Given the description of an element on the screen output the (x, y) to click on. 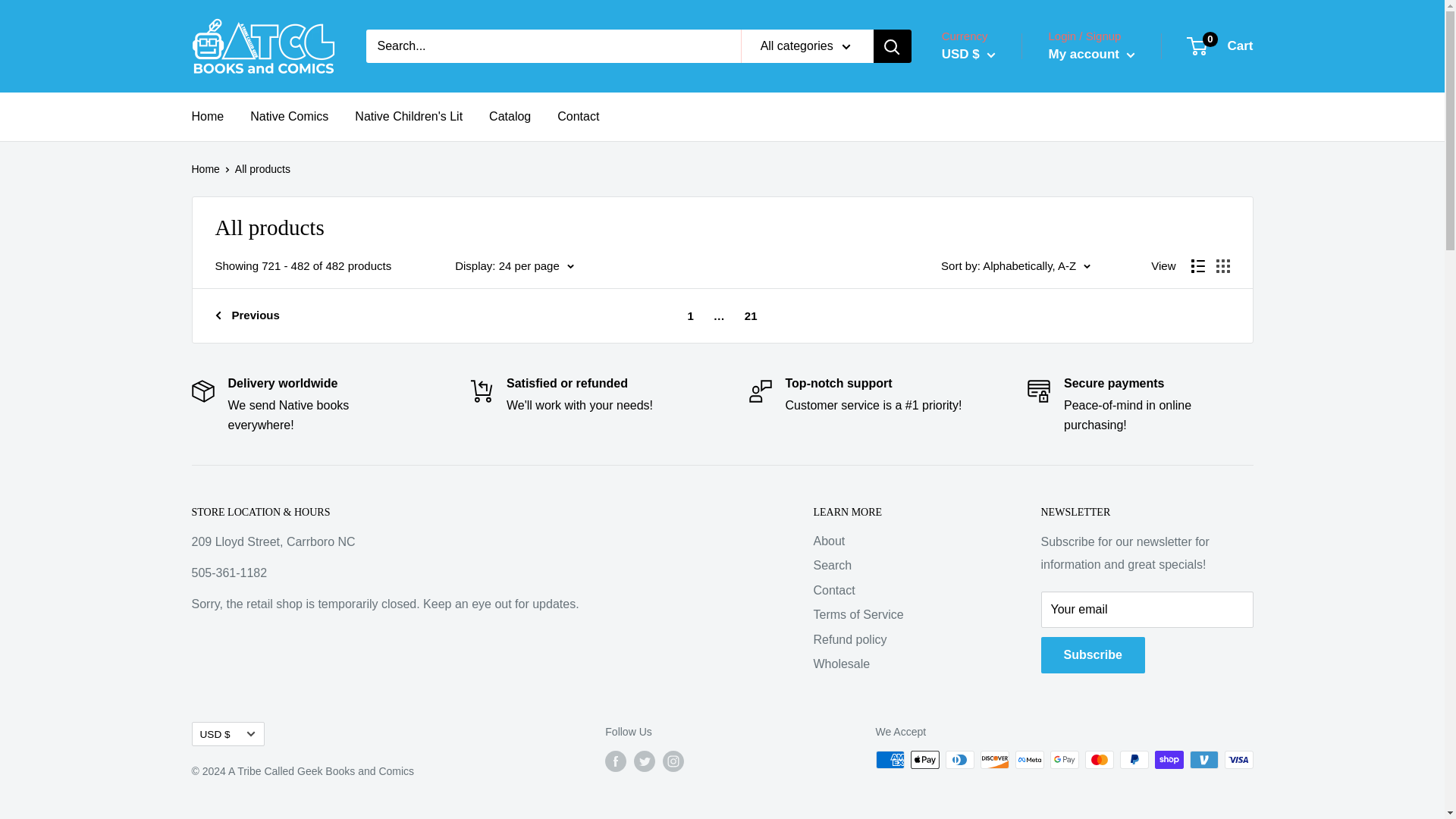
BZD (992, 625)
AUD (992, 347)
CHF (992, 694)
BWP (992, 601)
CDF (992, 671)
CAD (992, 647)
BND (992, 533)
AMD (992, 301)
CVE (992, 764)
Navigate to page 1 (689, 315)
Previous (247, 315)
BSD (992, 579)
AED (992, 231)
AFN (992, 255)
Navigate to page 21 (750, 315)
